Given the description of an element on the screen output the (x, y) to click on. 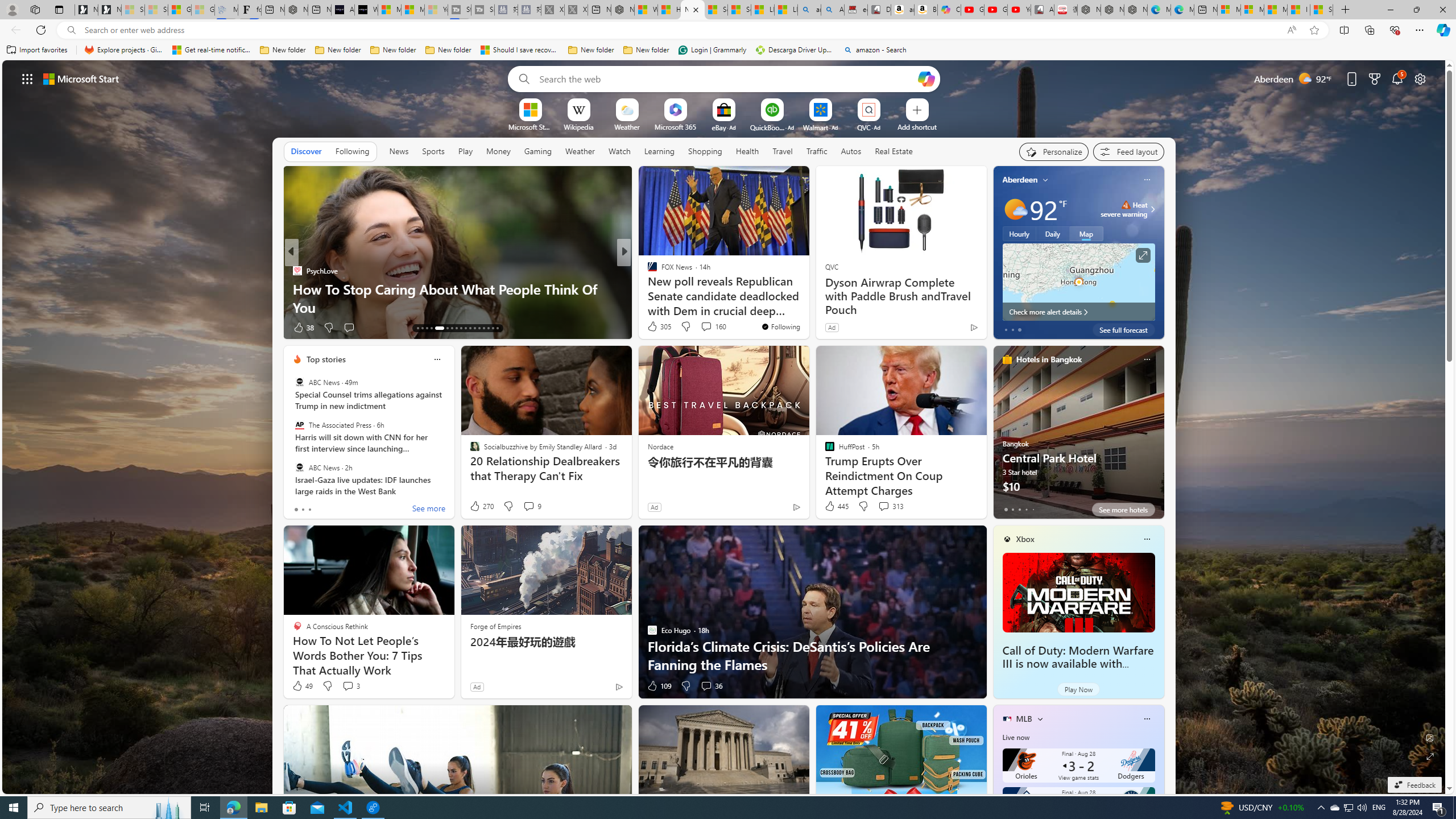
Shopping (705, 151)
View comments 313 Comment (890, 505)
View comments 5 Comment (698, 327)
Thrift My Life (647, 270)
More interests (1039, 718)
Class: weather-arrow-glyph (1152, 208)
AutomationID: tab-15 (426, 328)
